Given the description of an element on the screen output the (x, y) to click on. 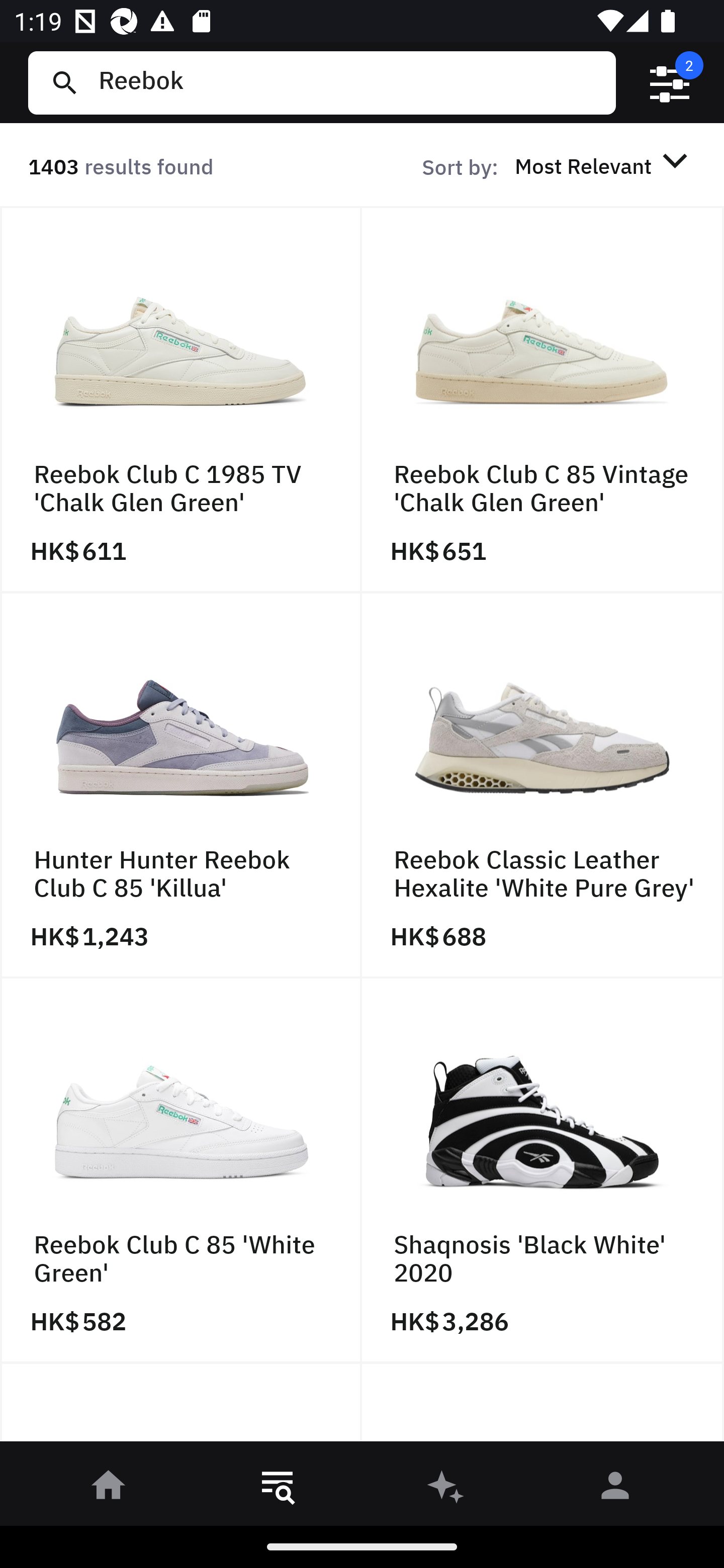
Reebok (349, 82)
 (669, 82)
Most Relevant  (604, 165)
Reebok Club C 1985 TV 'Chalk Glen Green' HK$ 611 (181, 399)
Hunter Hunter Reebok Club C 85 'Killua' HK$ 1,243 (181, 785)
Reebok Club C 85 'White Green' HK$ 582 (181, 1171)
Shaqnosis 'Black White' 2020 HK$ 3,286 (543, 1171)
󰋜 (108, 1488)
󱎸 (277, 1488)
󰫢 (446, 1488)
󰀄 (615, 1488)
